Given the description of an element on the screen output the (x, y) to click on. 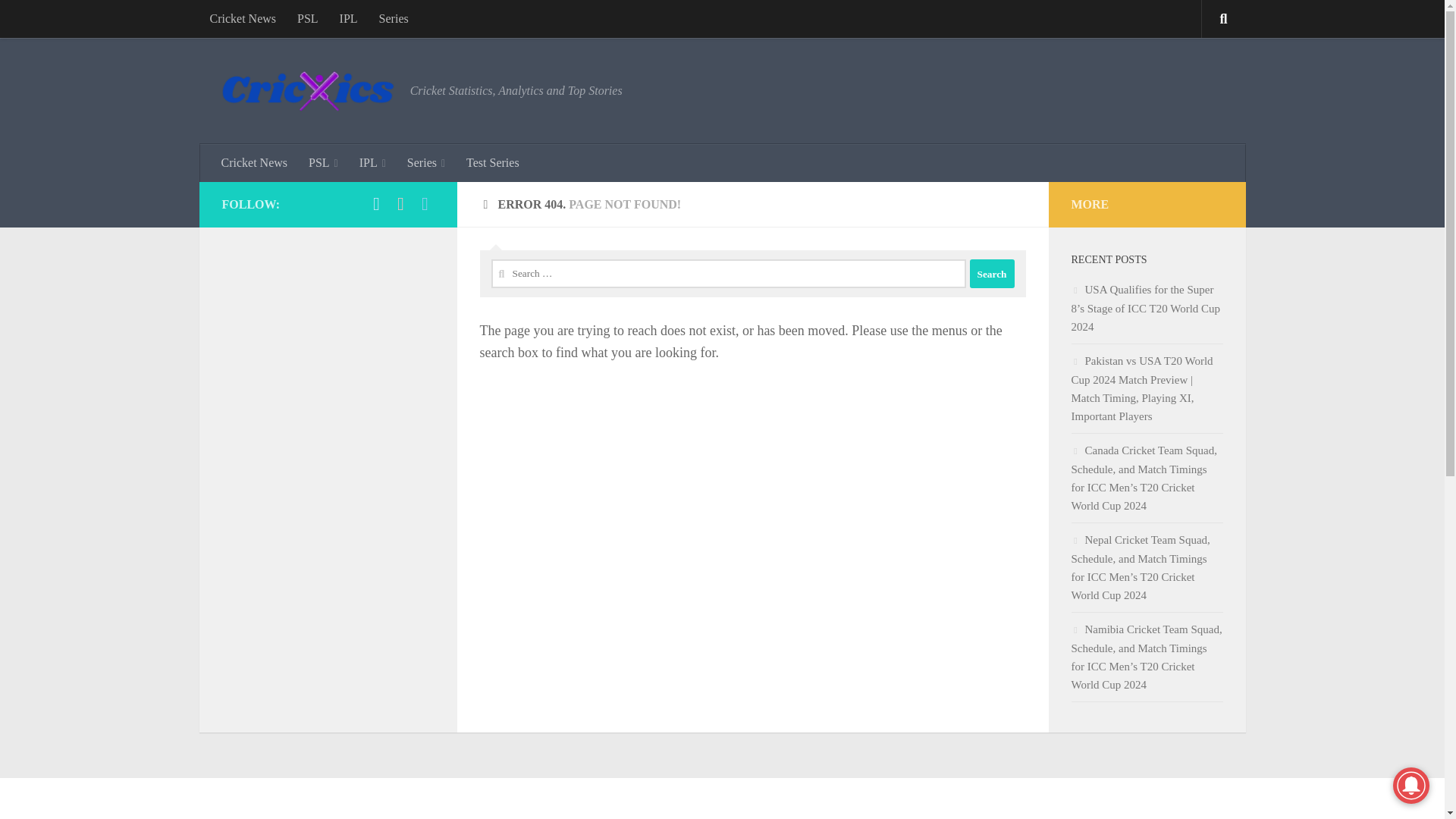
IPL (348, 18)
Search (991, 273)
Skip to content (59, 20)
Cricket News (242, 18)
Follow us on Instagram (400, 203)
IPL (372, 162)
Search (991, 273)
PSL (307, 18)
Series (425, 162)
Series (393, 18)
PSL (323, 162)
Follow us on Twitter (423, 203)
Follow us on Facebook (375, 203)
Cricket News (254, 162)
